Given the description of an element on the screen output the (x, y) to click on. 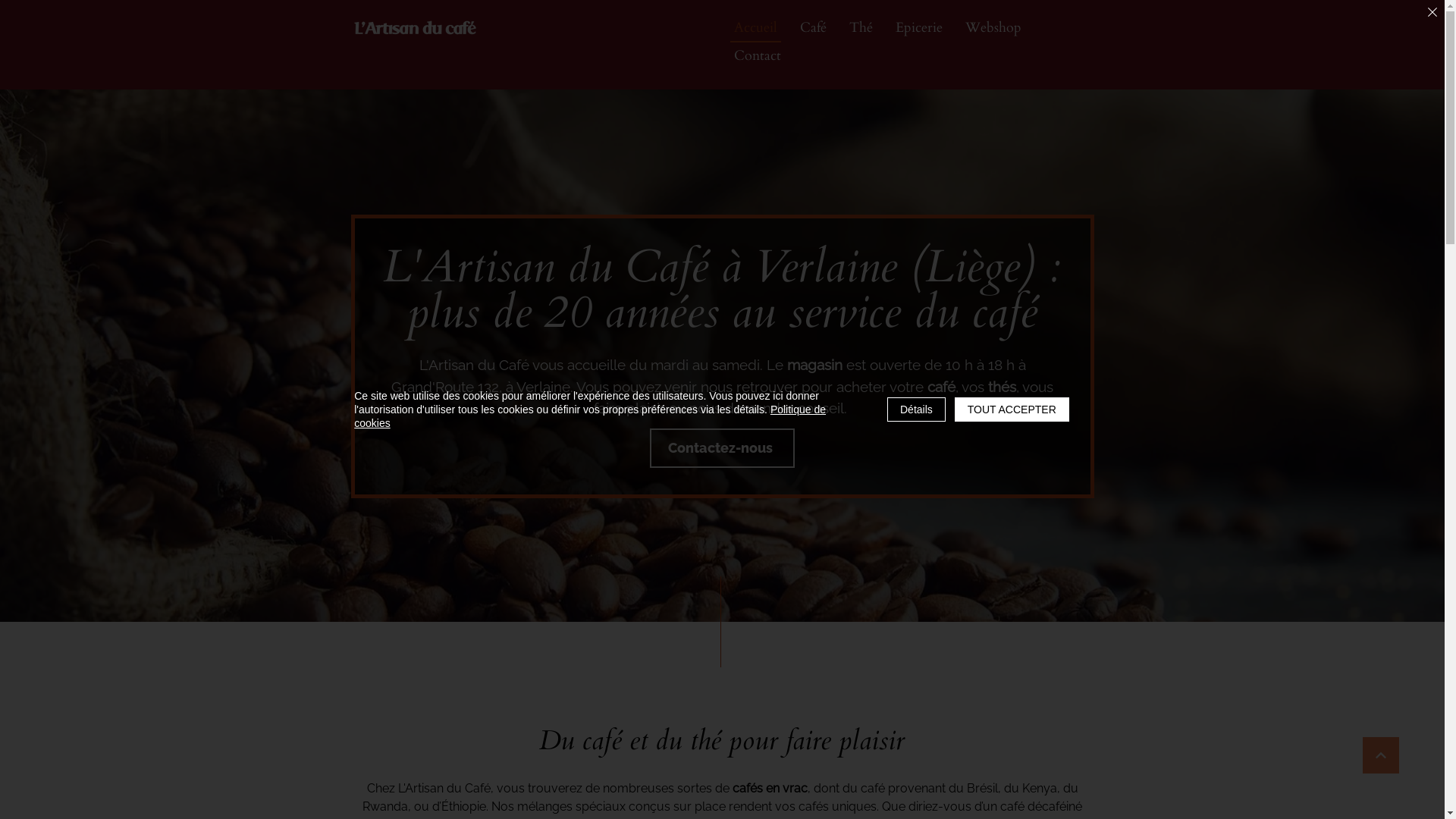
Accueil Element type: text (754, 28)
Contact Element type: text (756, 56)
Contactez-nous Element type: text (721, 447)
Webshop Element type: text (993, 28)
Epicerie Element type: text (918, 28)
Politique de cookies Element type: text (589, 416)
TOUT ACCEPTER Element type: text (1011, 409)
